Given the description of an element on the screen output the (x, y) to click on. 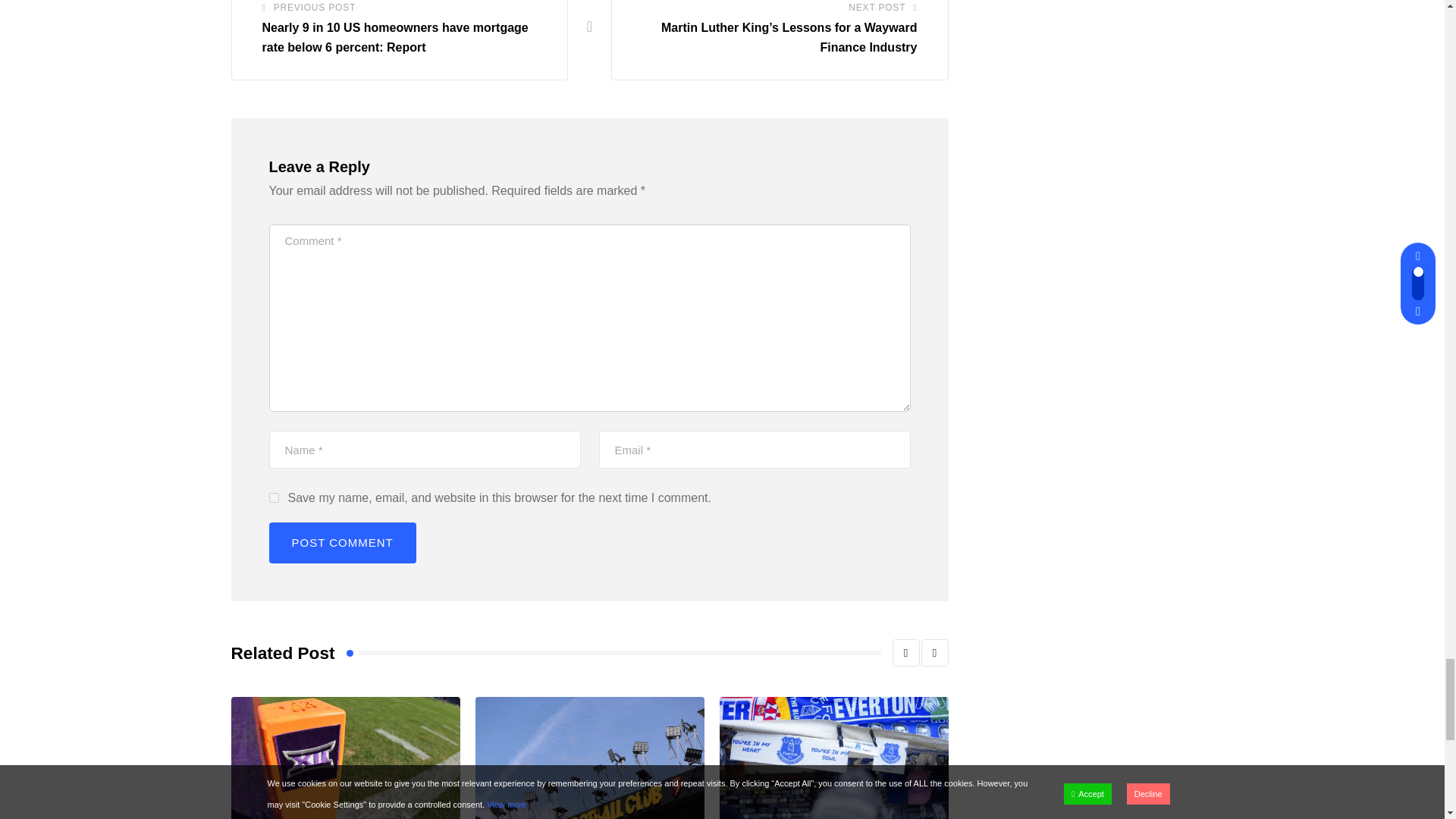
Post Comment (340, 542)
yes (272, 497)
